Given the description of an element on the screen output the (x, y) to click on. 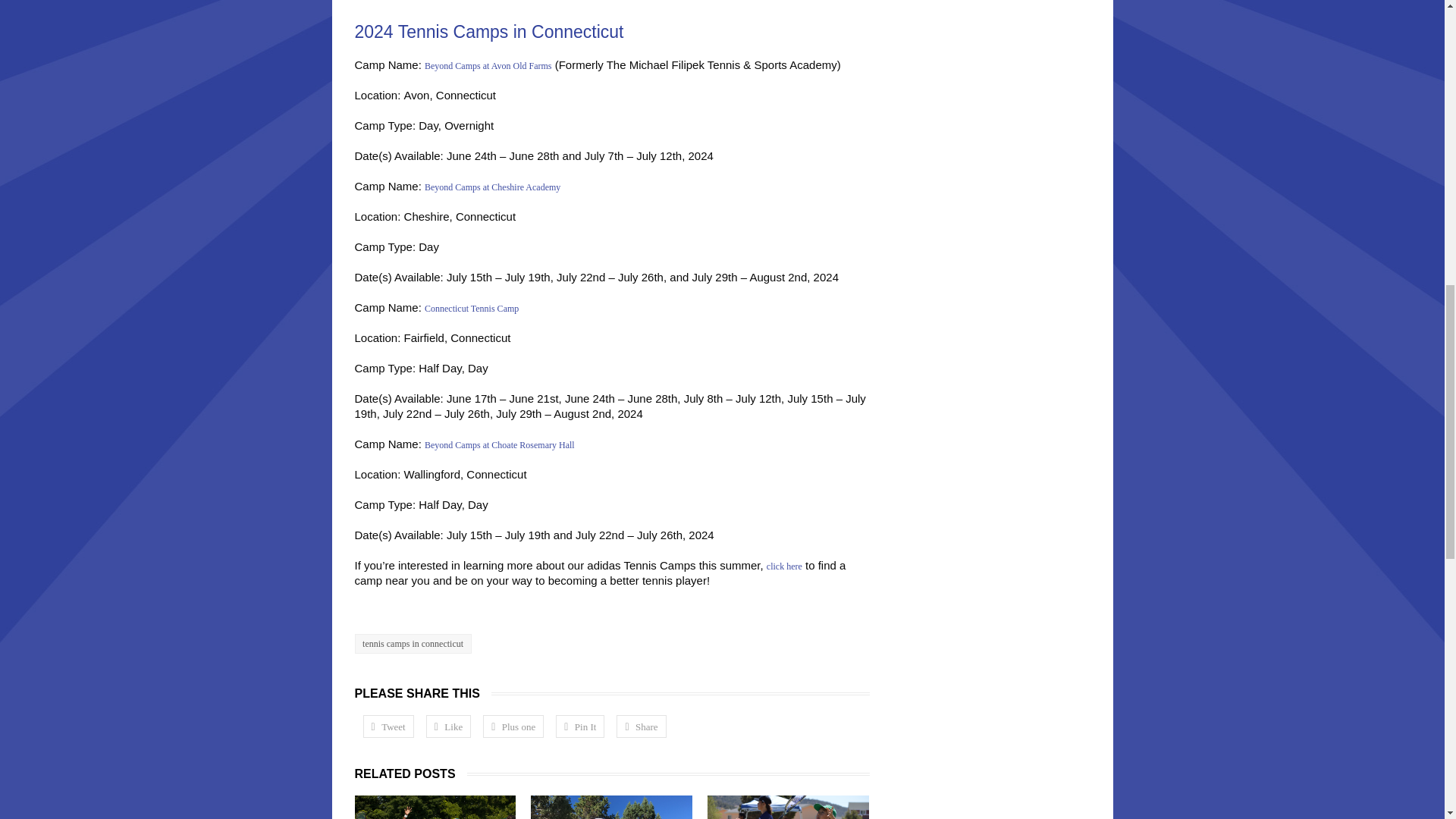
Share (640, 725)
click here (784, 566)
Plus one (513, 725)
Connecticut Tennis Camp (471, 308)
Tweet (387, 725)
The Best Tennis Drills For Beginners (788, 807)
Like (448, 725)
Beyond Camps at Cheshire Academy (492, 186)
Pin It (580, 725)
Beyond Camps at Avon Old Farms (488, 65)
Beyond Camps at Choate Rosemary Hall (500, 444)
tennis camps in connecticut (413, 643)
